Given the description of an element on the screen output the (x, y) to click on. 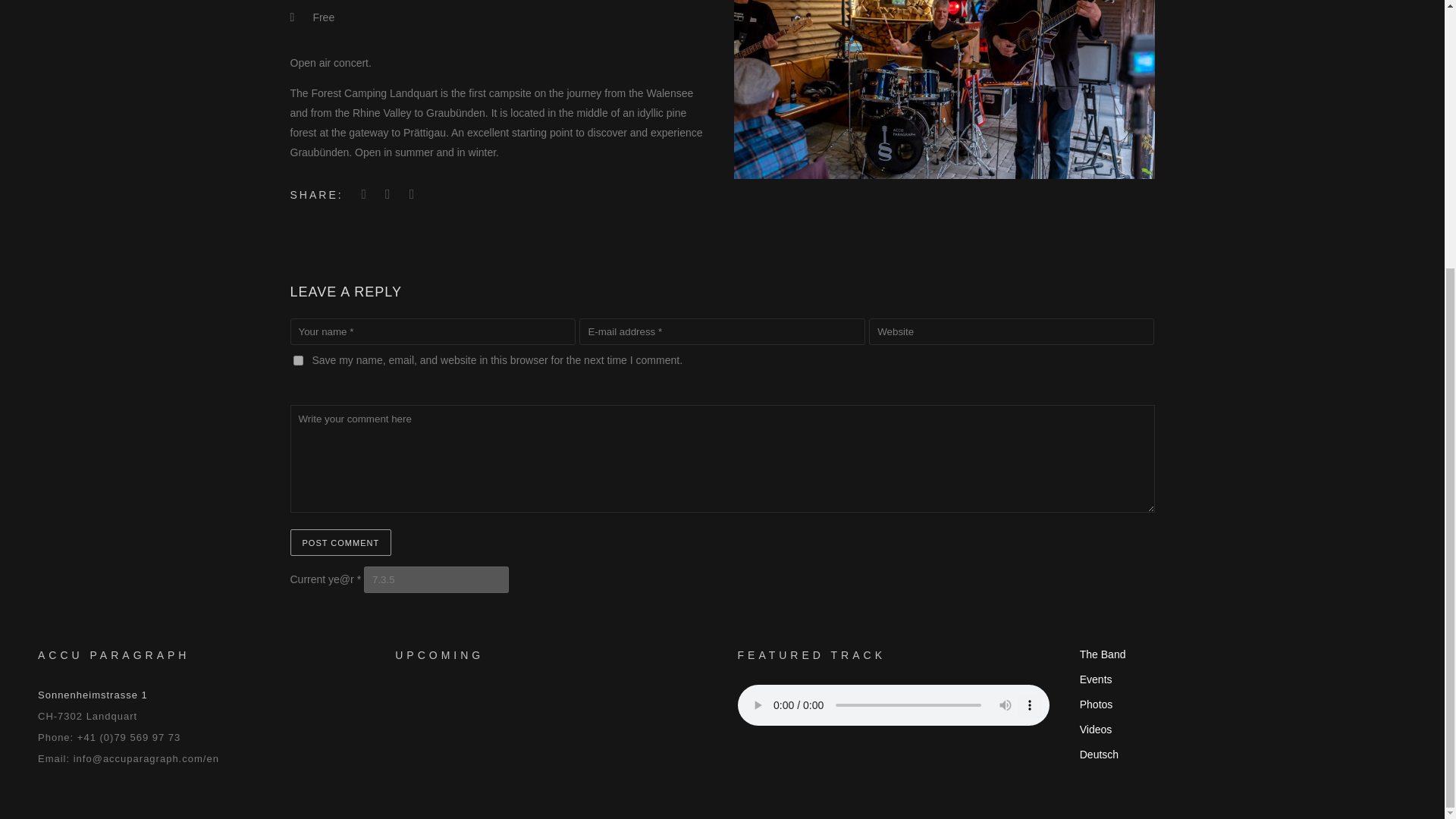
Videos (1096, 729)
The Band (1102, 654)
Post Comment (340, 542)
Post Comment (340, 542)
Photos (1096, 704)
7.3.5 (436, 579)
Deutsch (1099, 754)
Deutsch (1099, 754)
Events (1096, 679)
